Given the description of an element on the screen output the (x, y) to click on. 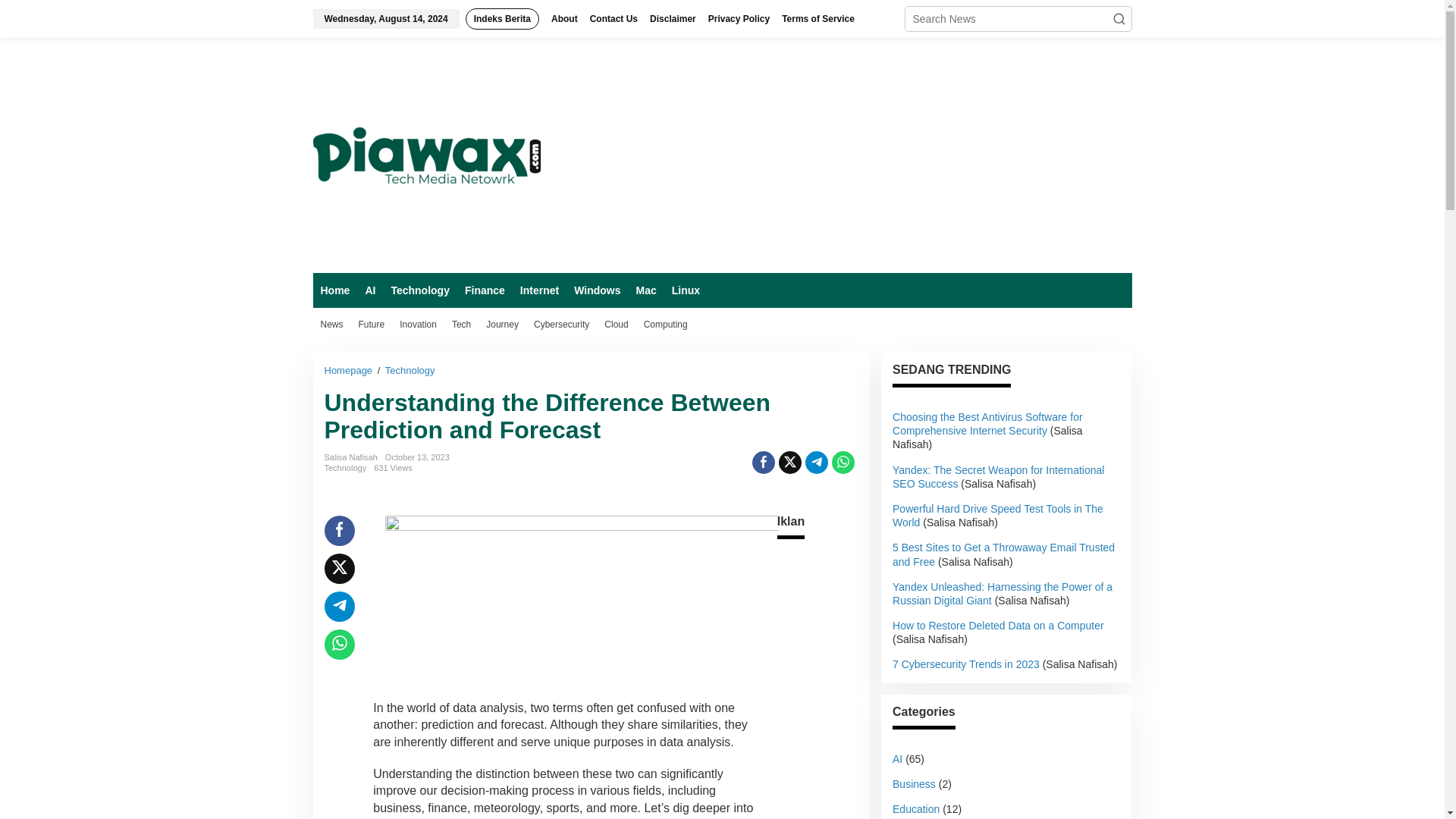
Linux (685, 289)
Tech (461, 324)
Telegram Share (816, 462)
Journey (502, 324)
Permalink to: Salisa Nafisah (350, 456)
Technology (410, 369)
Technology (419, 289)
Internet (539, 289)
Tweet this (790, 462)
Terms of Service (818, 18)
